Given the description of an element on the screen output the (x, y) to click on. 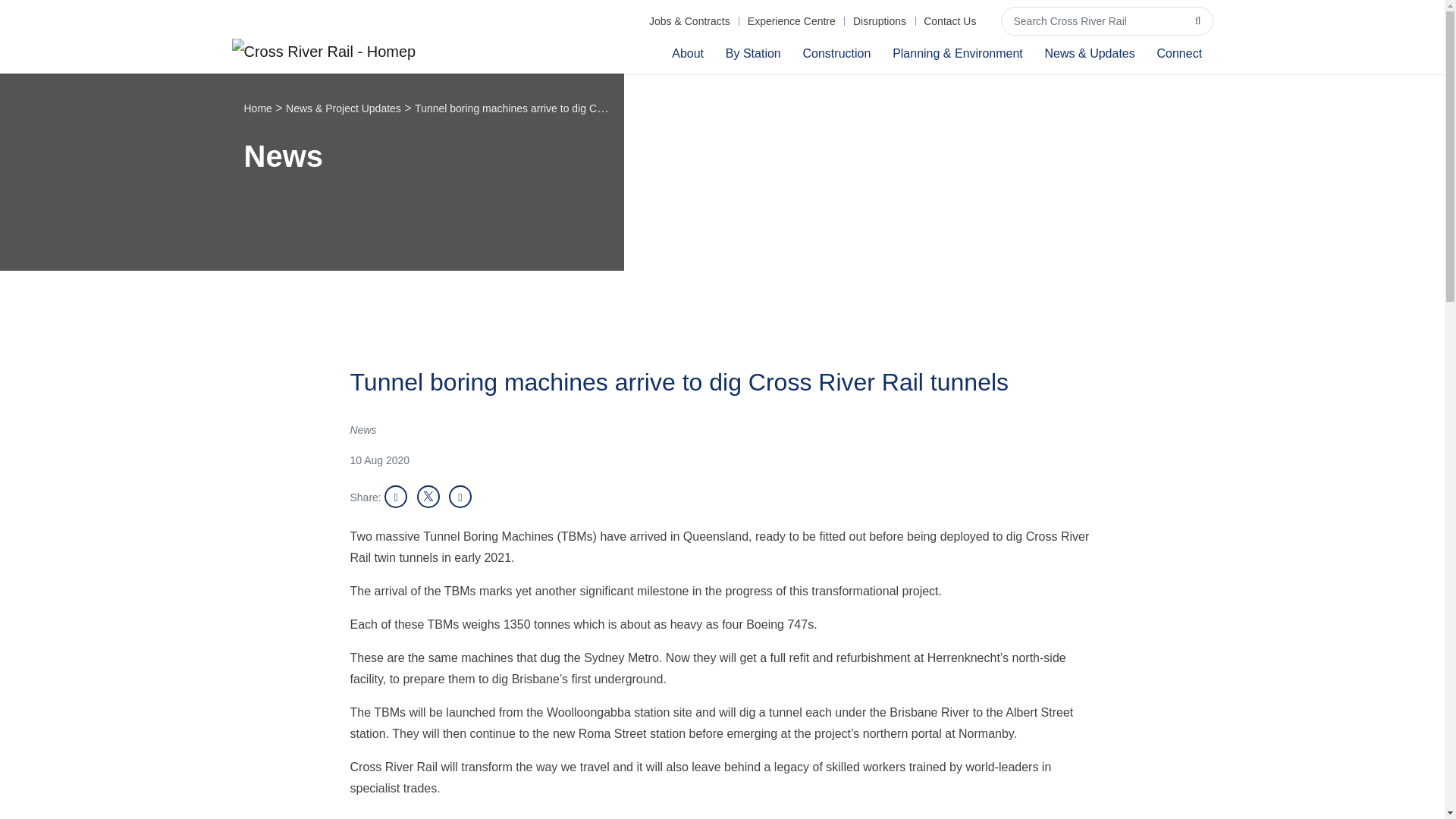
Experience Centre (791, 20)
Experience Centre (791, 20)
Disruptions (879, 20)
About (687, 52)
By Station (753, 52)
Disruptions (879, 20)
About (687, 52)
Contact Us (950, 20)
Cross River Rail (323, 52)
Contact Us (950, 20)
